Given the description of an element on the screen output the (x, y) to click on. 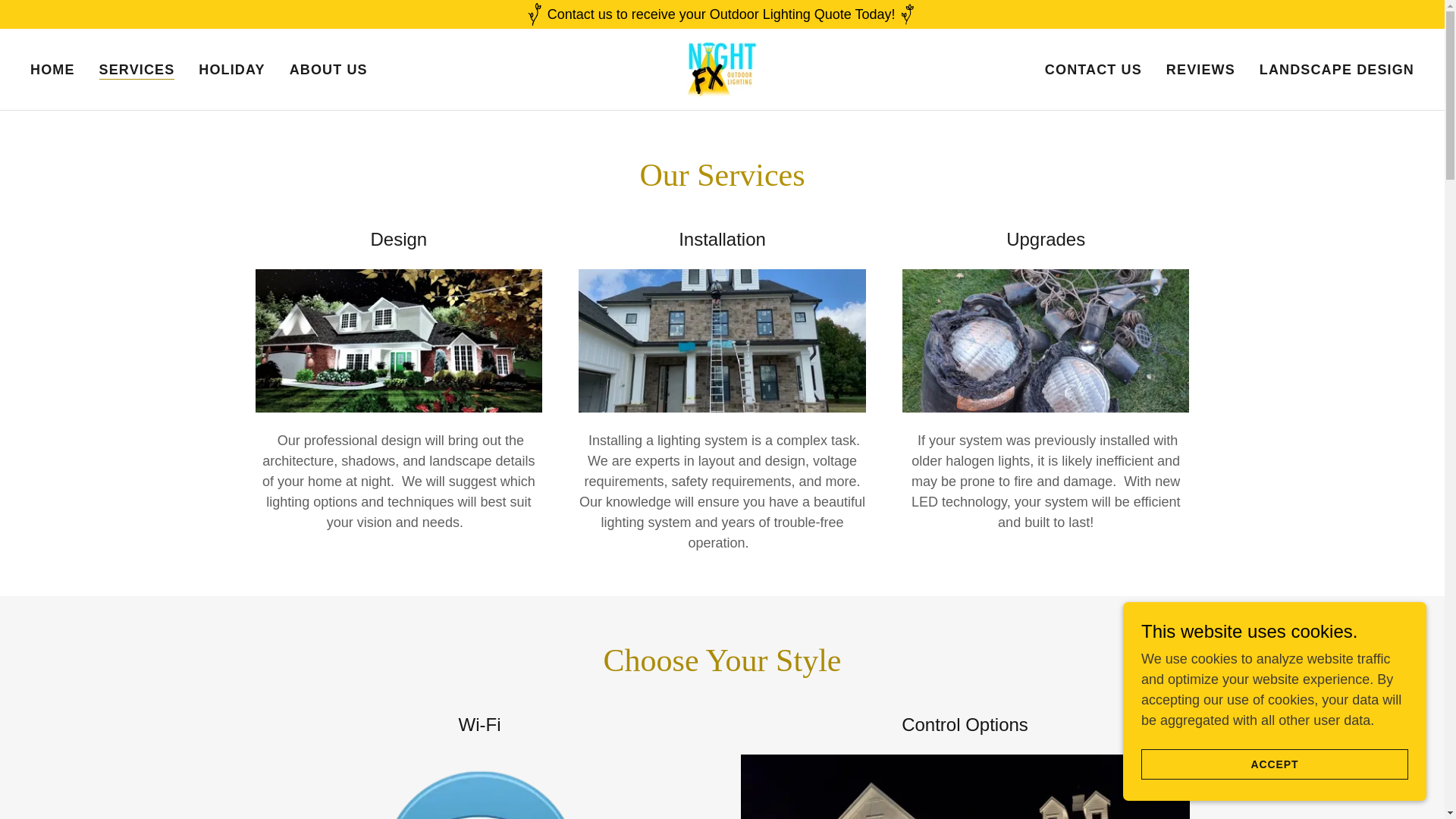
SERVICES (136, 69)
HOLIDAY (231, 69)
HOME (53, 69)
CONTACT US (1094, 69)
REVIEWS (1200, 69)
LANDSCAPE DESIGN (1336, 69)
ABOUT US (328, 69)
